Given the description of an element on the screen output the (x, y) to click on. 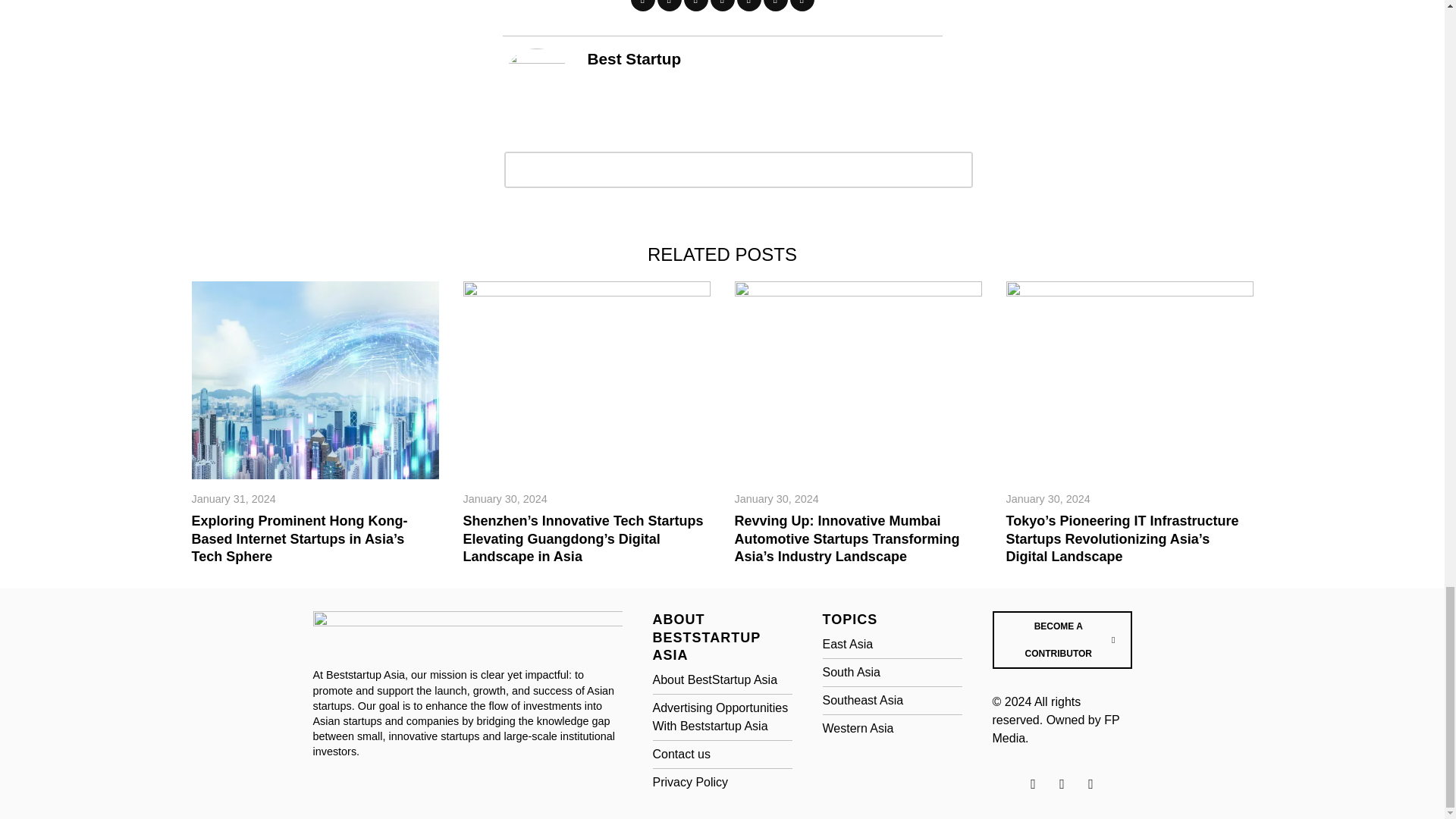
30 Jan, 2024 23:18:59 (505, 498)
31 Jan, 2024 00:49:02 (232, 498)
30 Jan, 2024 23:44:53 (1047, 498)
30 Jan, 2024 23:32:56 (775, 498)
